Given the description of an element on the screen output the (x, y) to click on. 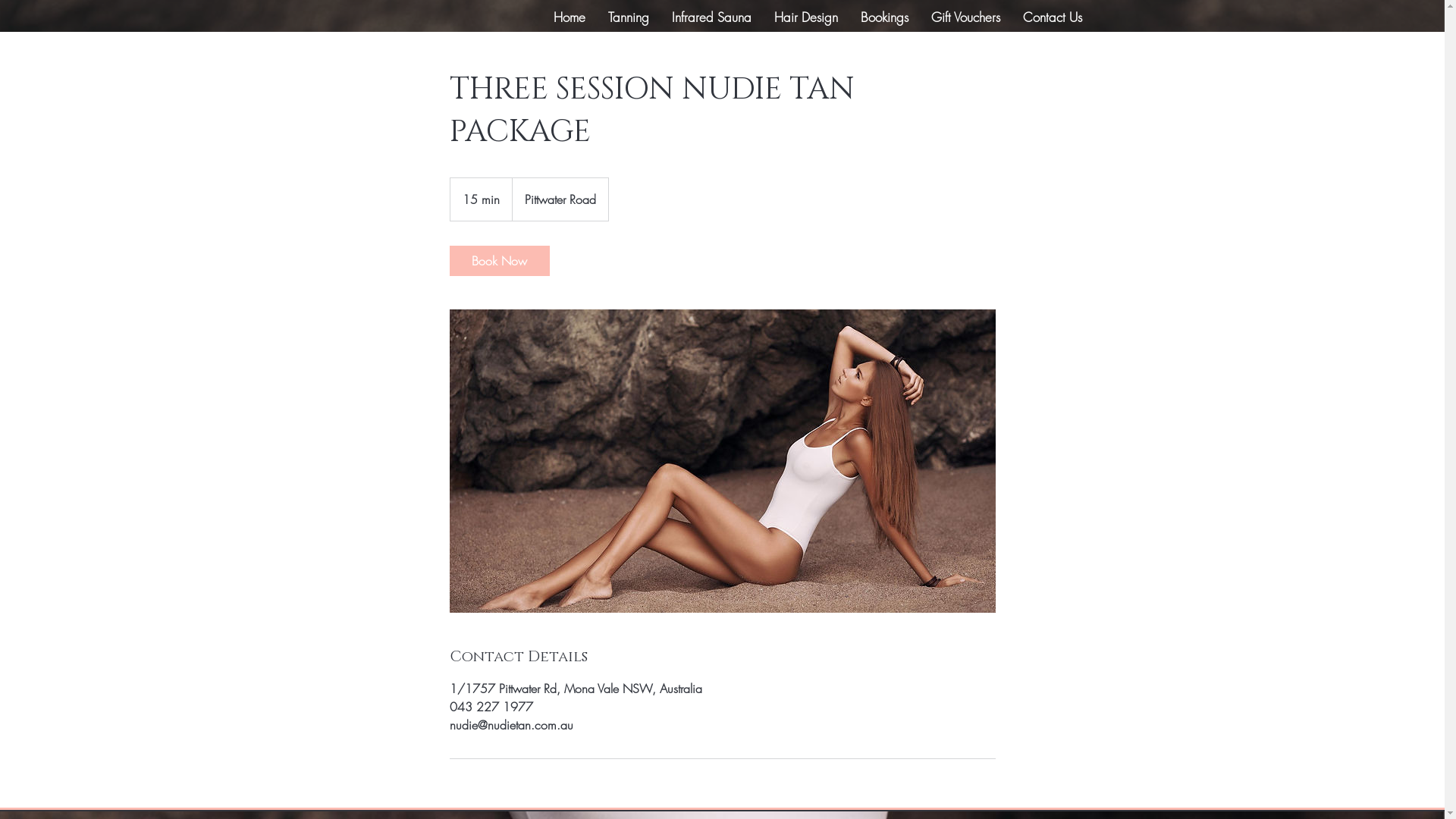
Contact Us Element type: text (1052, 17)
Gift Vouchers Element type: text (964, 17)
Bookings Element type: text (884, 17)
Tanning Element type: text (627, 17)
Book Now Element type: text (498, 260)
Hair Design Element type: text (805, 17)
Home Element type: text (568, 17)
Infrared Sauna Element type: text (710, 17)
